Given the description of an element on the screen output the (x, y) to click on. 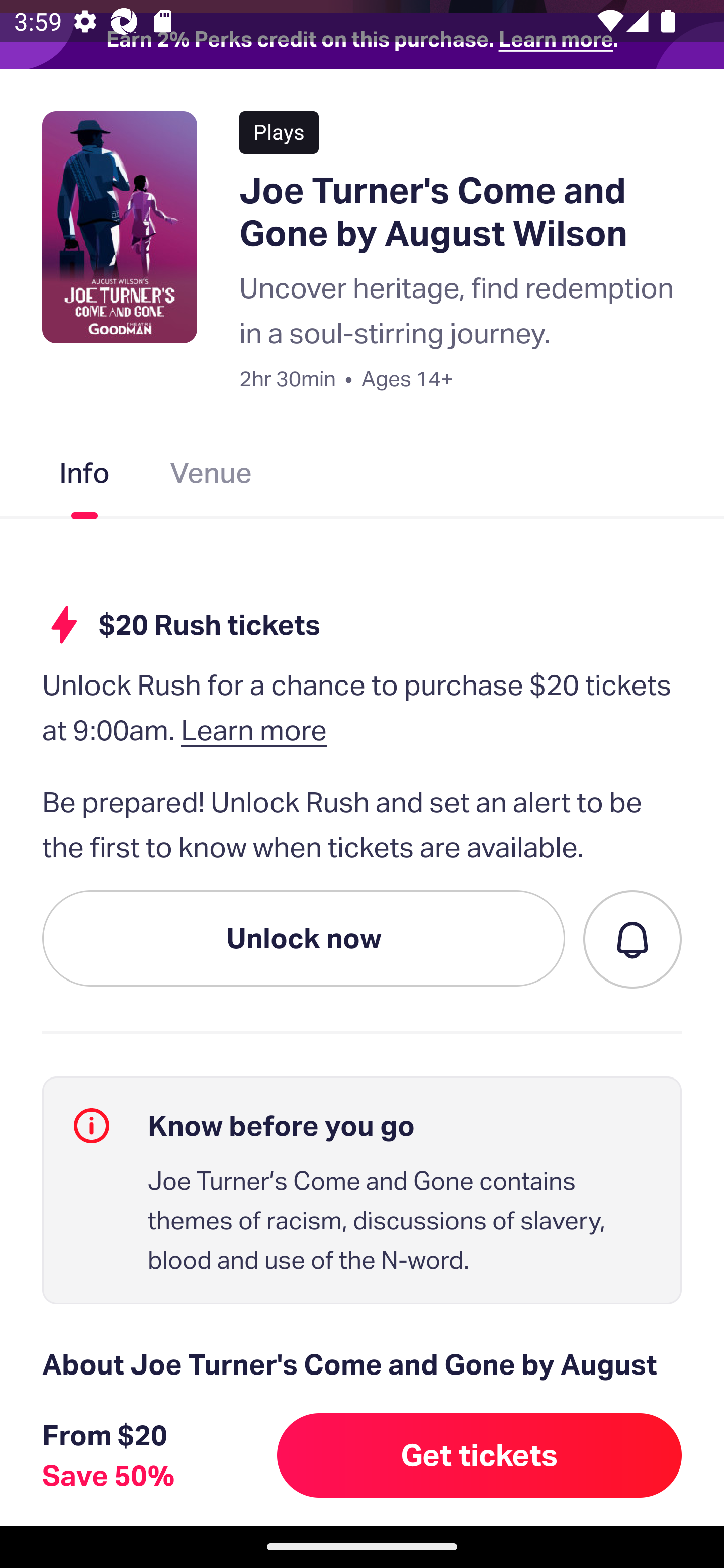
Venue (210, 476)
Unlock now (303, 938)
About Joe Turner's Come and Gone by August Wilson (361, 1387)
Get tickets (479, 1454)
